Given the description of an element on the screen output the (x, y) to click on. 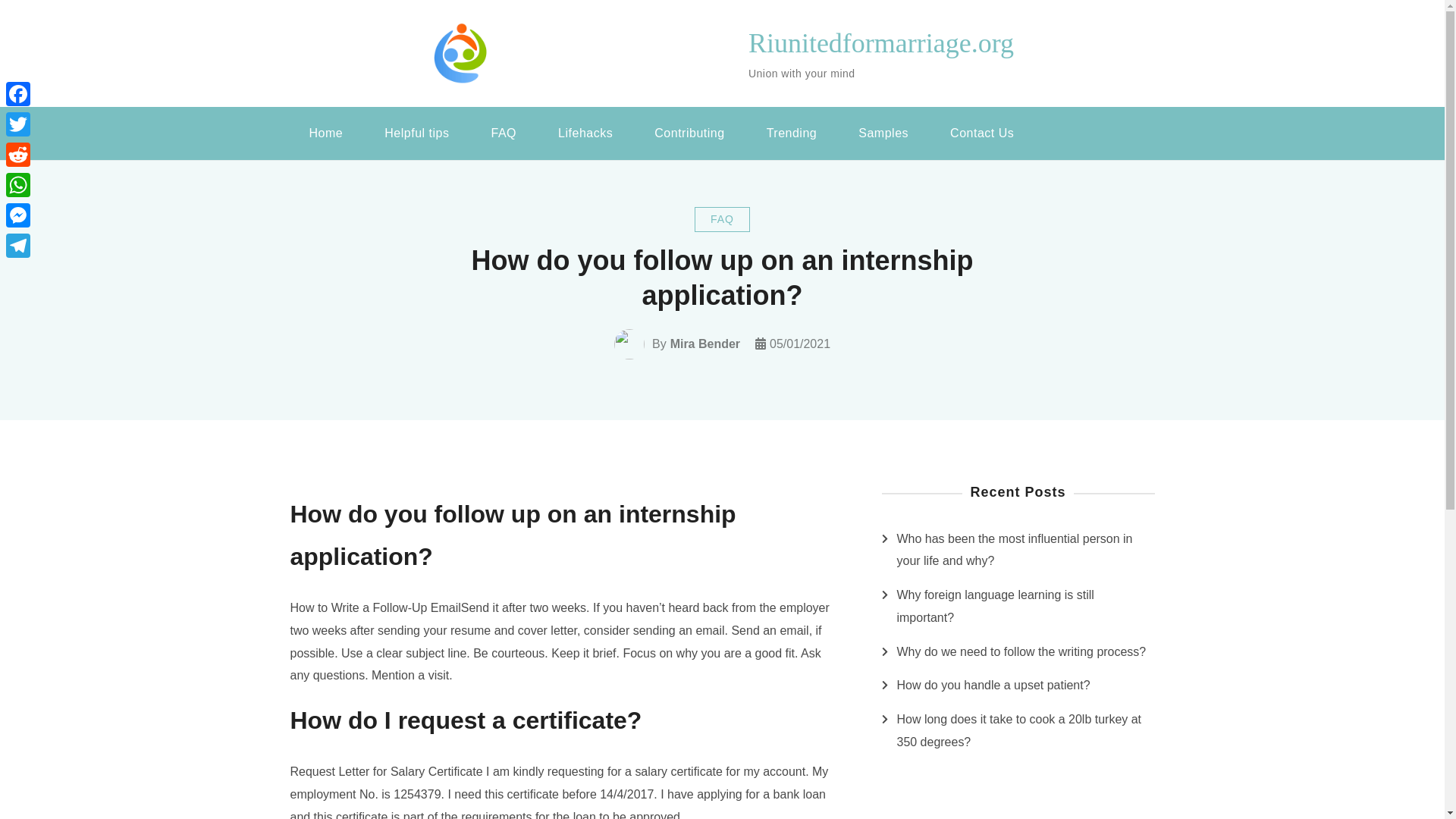
Contributing (688, 133)
How long does it take to cook a 20lb turkey at 350 degrees? (1025, 730)
WhatsApp (17, 184)
Samples (883, 133)
How do you handle a upset patient? (992, 685)
Reddit (17, 154)
Lifehacks (584, 133)
Telegram (17, 245)
Riunitedformarriage.org (880, 42)
Twitter (17, 123)
